Given the description of an element on the screen output the (x, y) to click on. 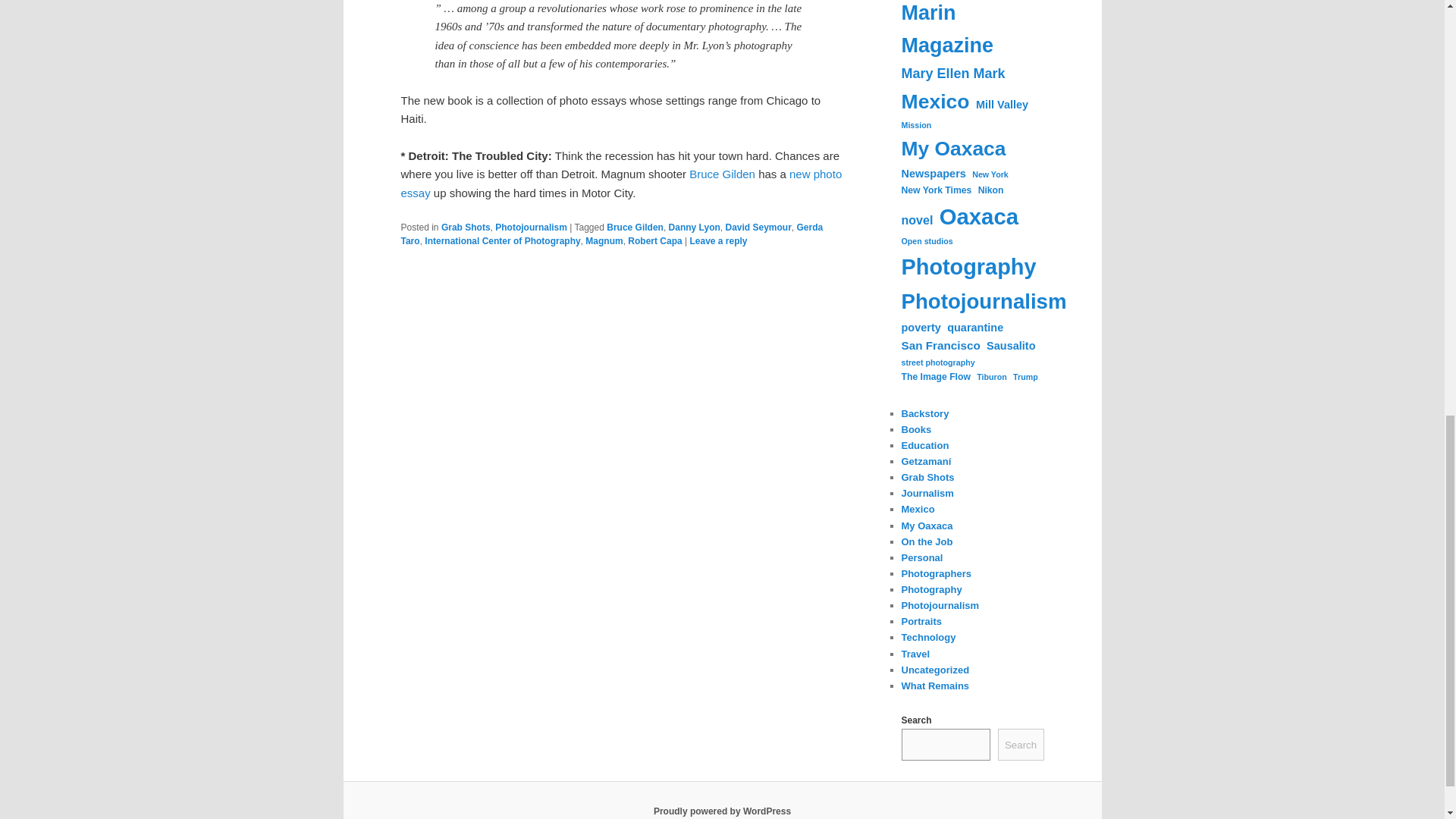
Semantic Personal Publishing Platform (721, 810)
Photojournalism (531, 226)
Bruce Gilden (721, 173)
Magnum (604, 240)
Grab Shots (465, 226)
Bruce Gilden (635, 226)
Robert Capa (654, 240)
International Center of Photography (502, 240)
Leave a reply (717, 240)
David Seymour (757, 226)
